Given the description of an element on the screen output the (x, y) to click on. 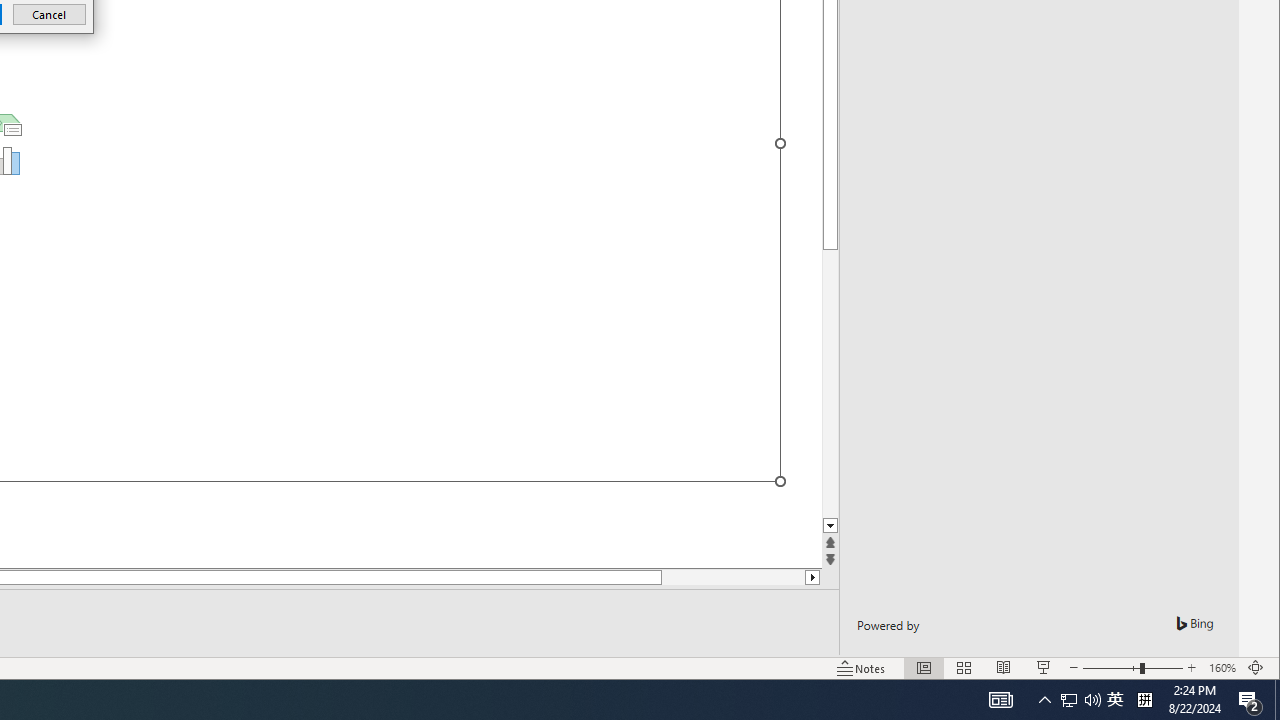
Action Center, 2 new notifications (1250, 699)
Cancel (49, 13)
Zoom 160% (1222, 668)
